Given the description of an element on the screen output the (x, y) to click on. 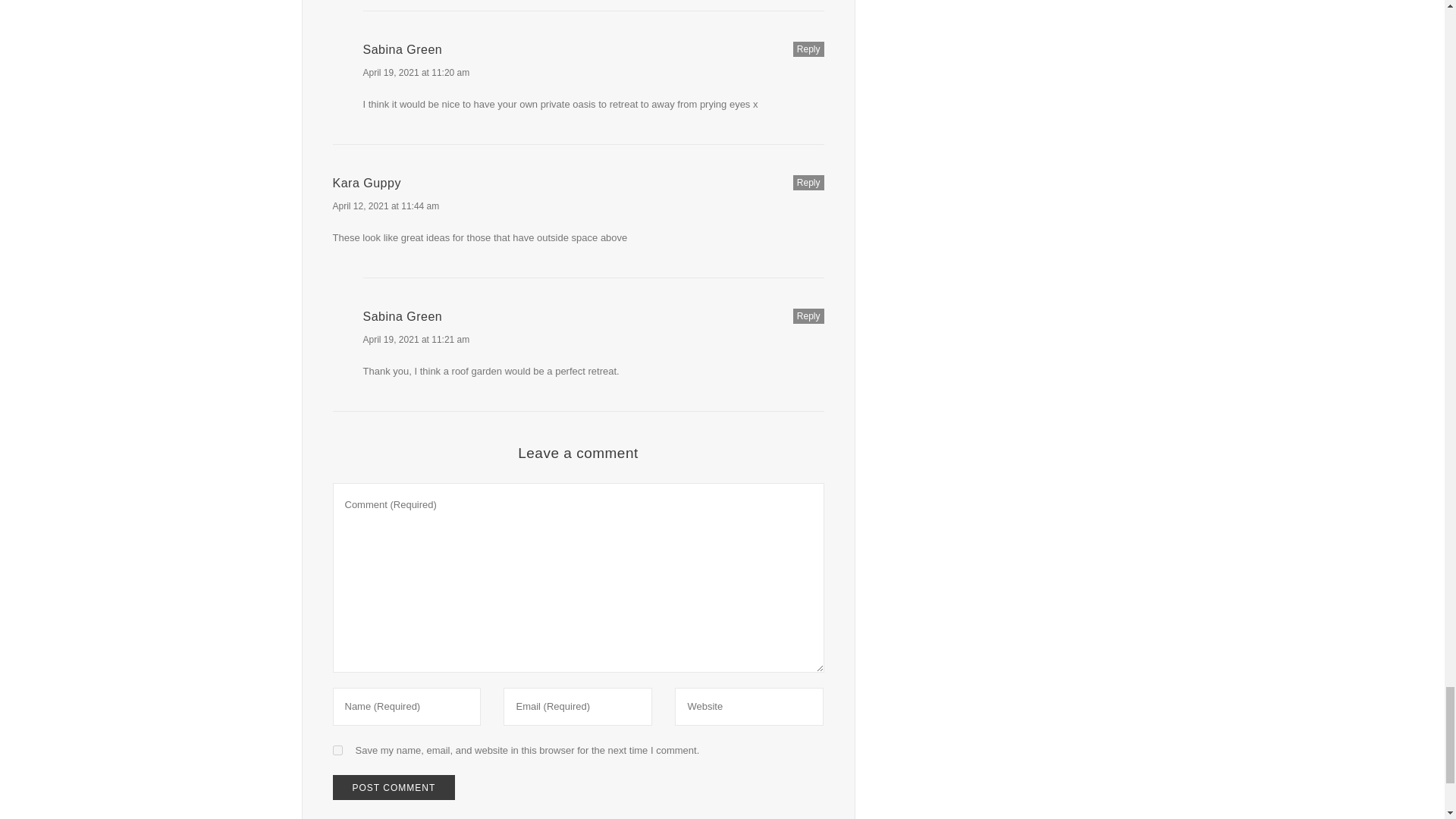
yes (336, 749)
Post Comment (392, 787)
